Given the description of an element on the screen output the (x, y) to click on. 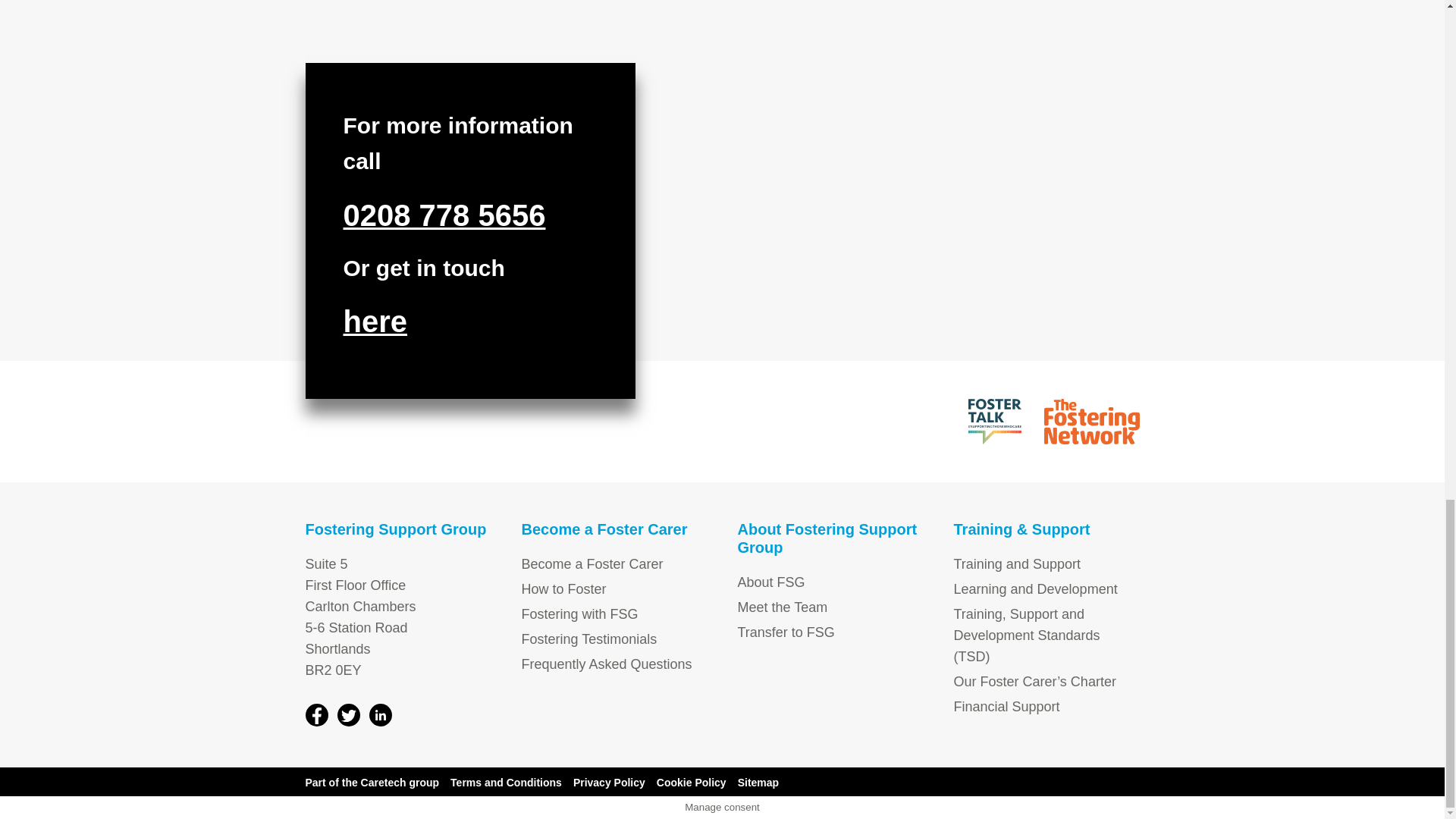
0208 778 5656 (443, 217)
here (374, 324)
Fostering Testimonials (589, 639)
Fostering with FSG (580, 613)
Frequently Asked Questions (607, 663)
How to Foster (564, 589)
Become a Foster Carer (592, 563)
